Given the description of an element on the screen output the (x, y) to click on. 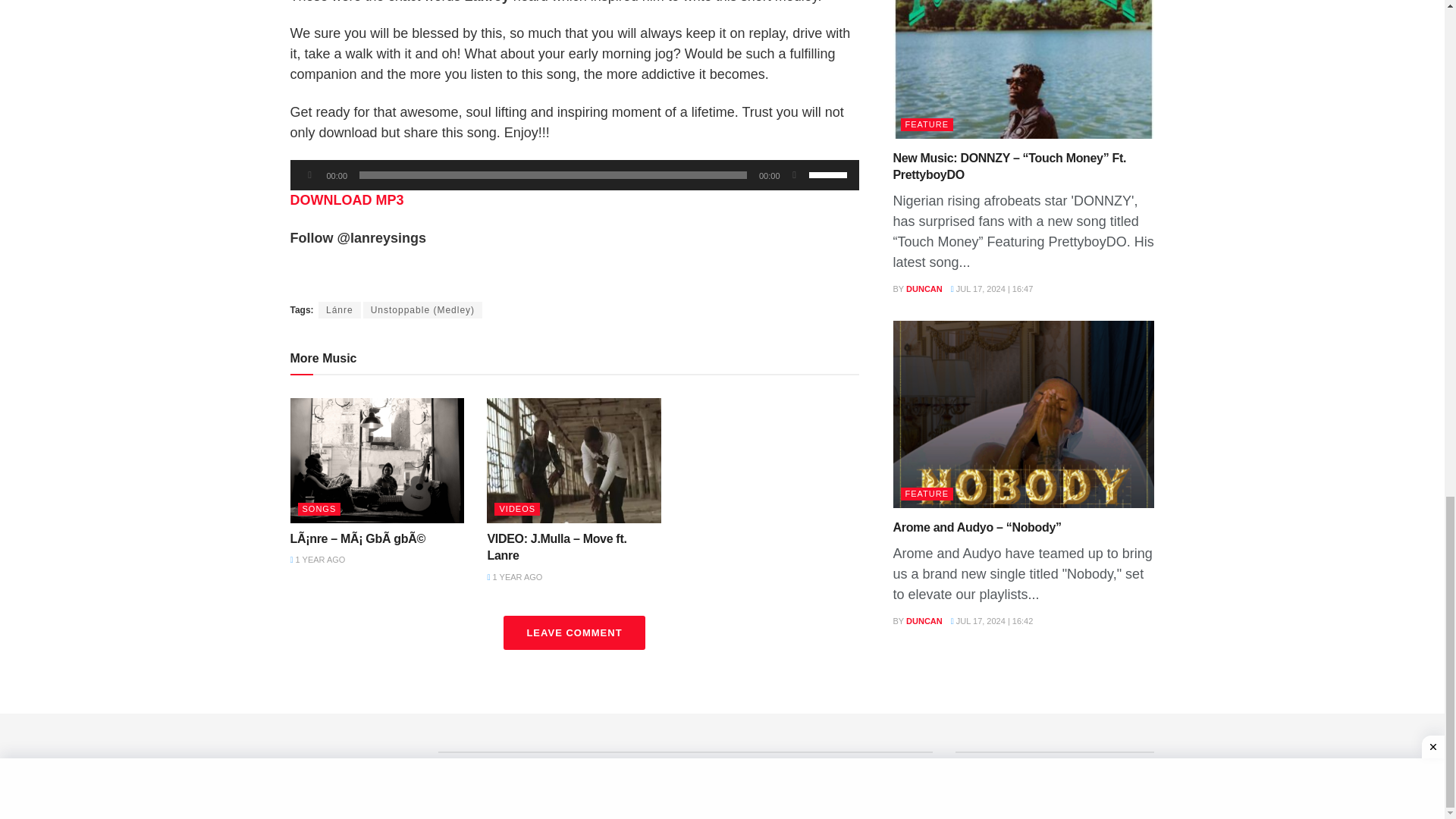
Mute (794, 174)
Artists (502, 776)
Play (309, 174)
